Given the description of an element on the screen output the (x, y) to click on. 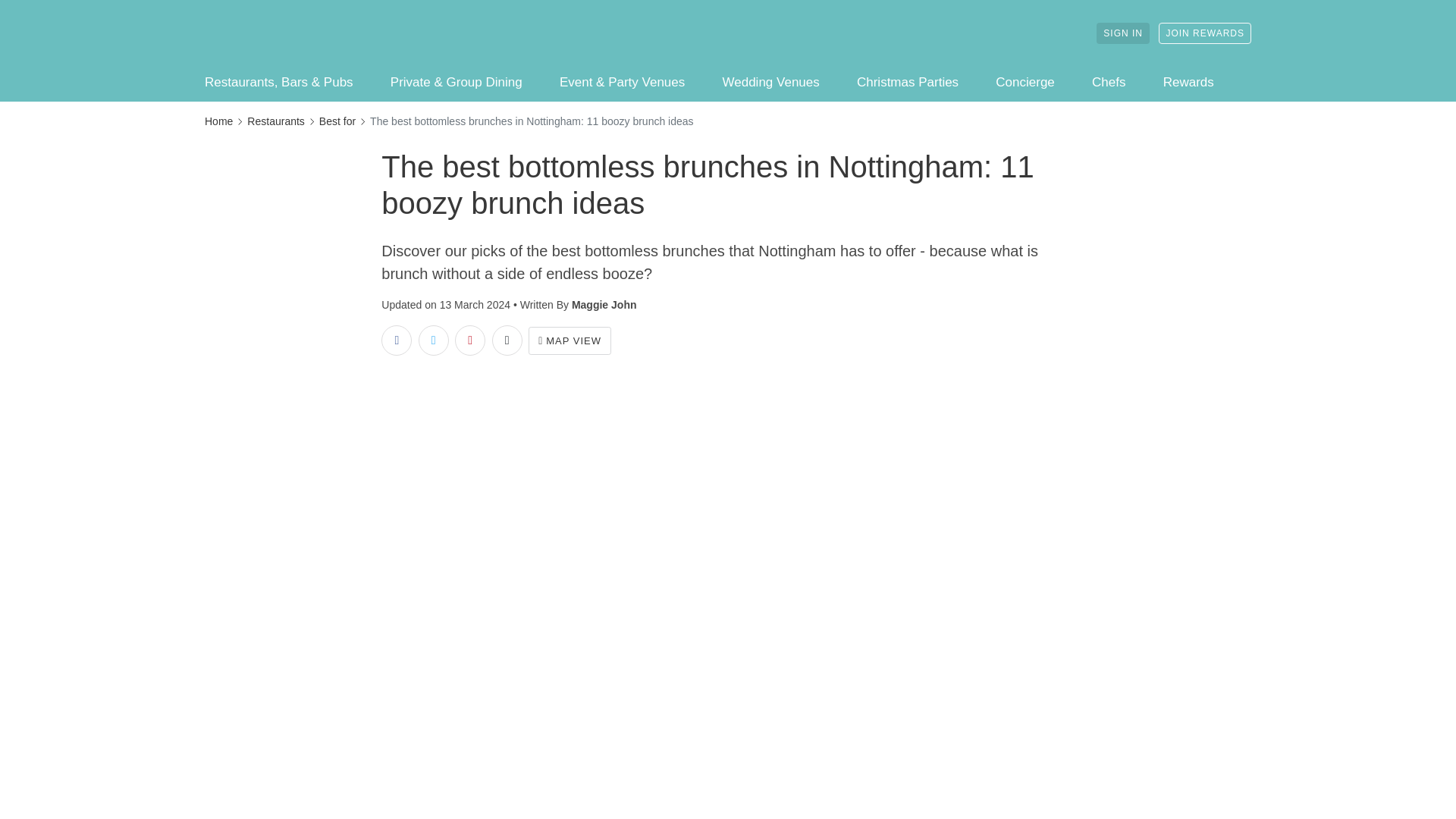
SIGN IN (1123, 33)
JOIN REWARDS (1204, 33)
SquareMeal (284, 33)
